Given the description of an element on the screen output the (x, y) to click on. 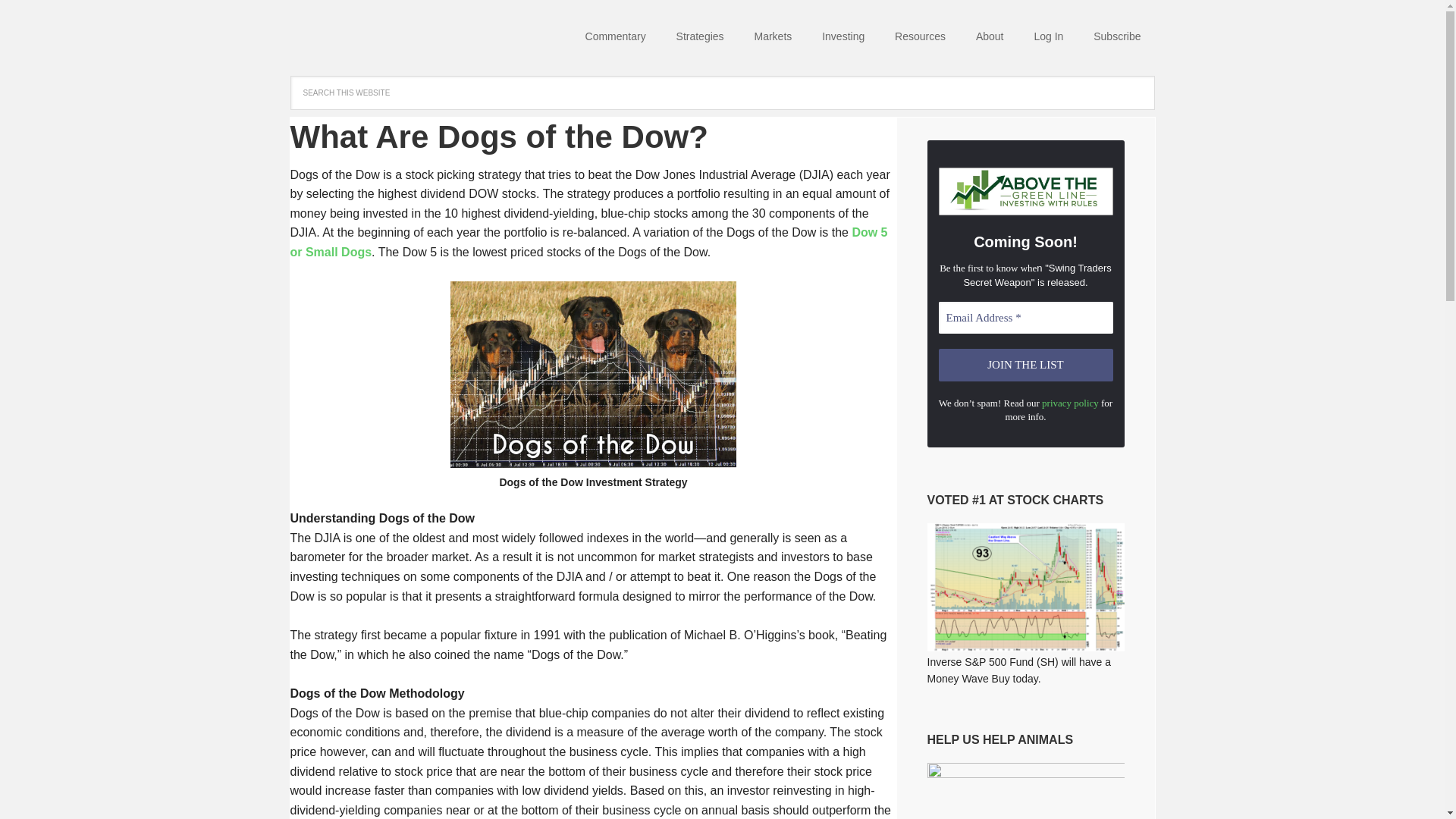
Commentary (615, 37)
Strategies (700, 37)
Above The Green Line (387, 38)
Email Address (1026, 318)
JOIN THE LIST (1026, 364)
